Given the description of an element on the screen output the (x, y) to click on. 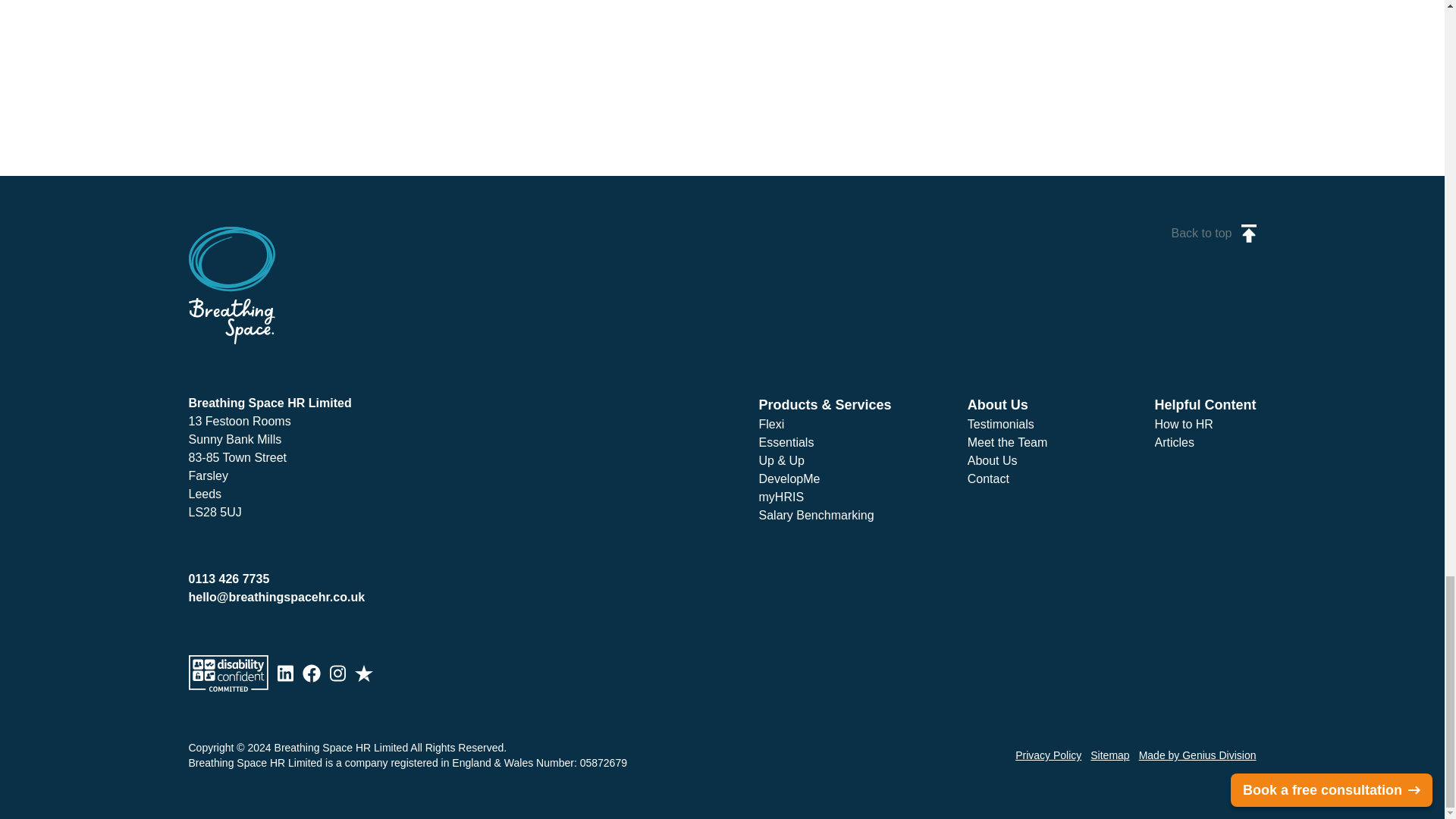
Facebook (310, 672)
Instagram (336, 672)
Trustpilot (363, 672)
LinkedIn (286, 672)
Back to top (1212, 233)
